Given the description of an element on the screen output the (x, y) to click on. 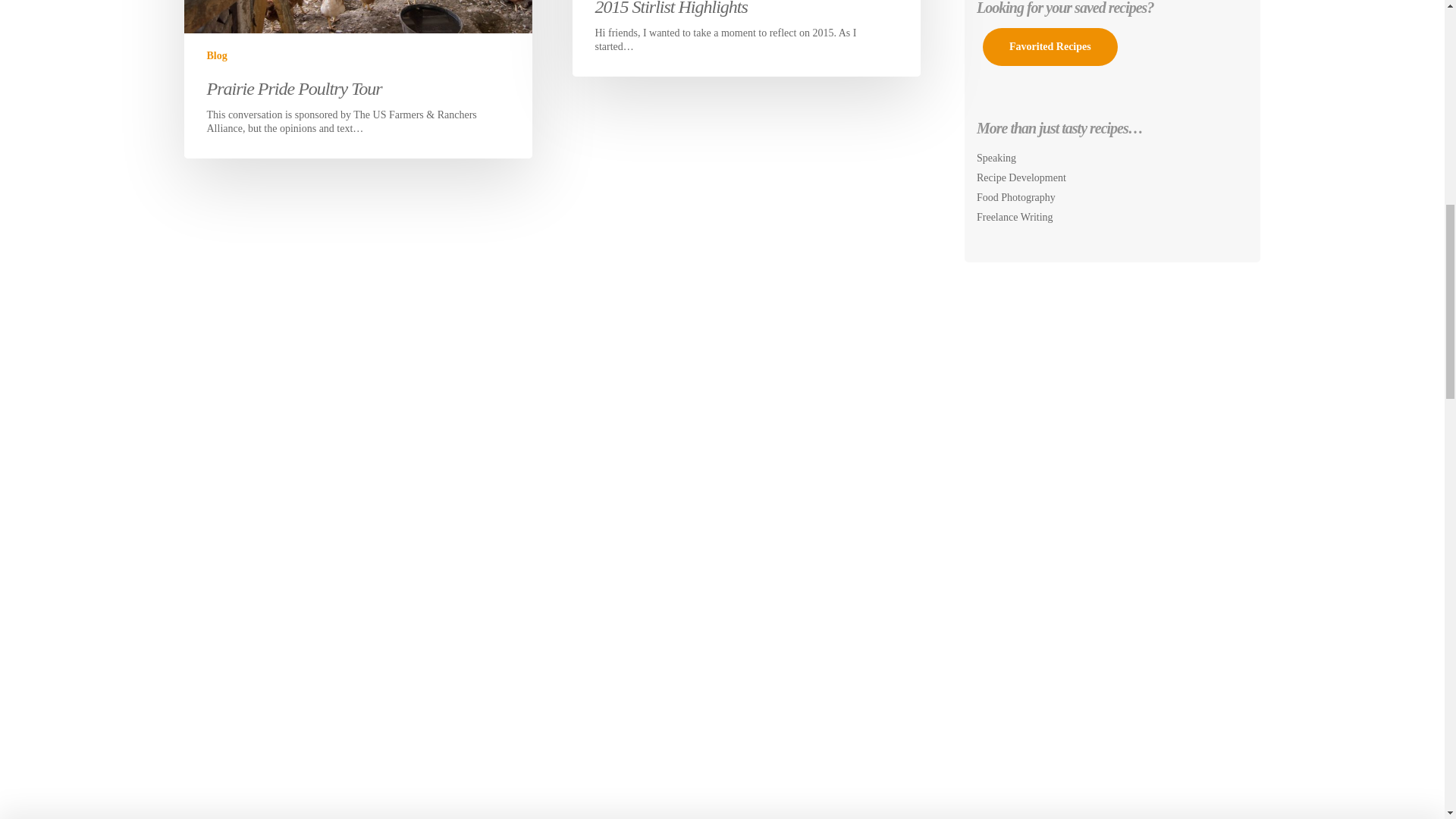
Prairie Pride Poultry Tour (293, 88)
Blog (216, 55)
2015 Stirlist Highlights (670, 8)
Signup (900, 82)
